Given the description of an element on the screen output the (x, y) to click on. 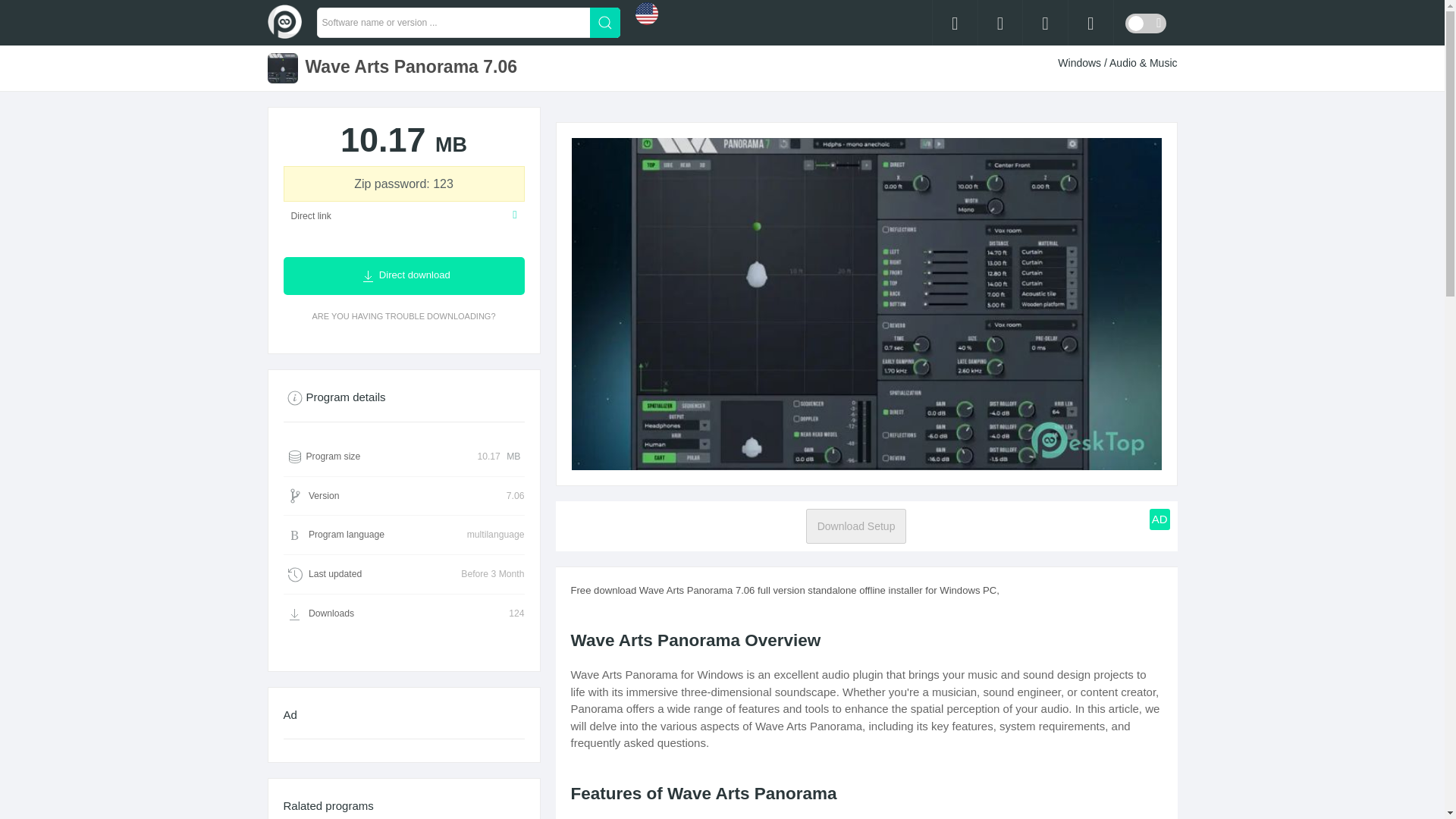
Windows (1080, 62)
Download Setup (856, 525)
Download Setup (856, 525)
ARE YOU HAVING TROUBLE DOWNLOADING? (403, 316)
Direct download (403, 275)
